Given the description of an element on the screen output the (x, y) to click on. 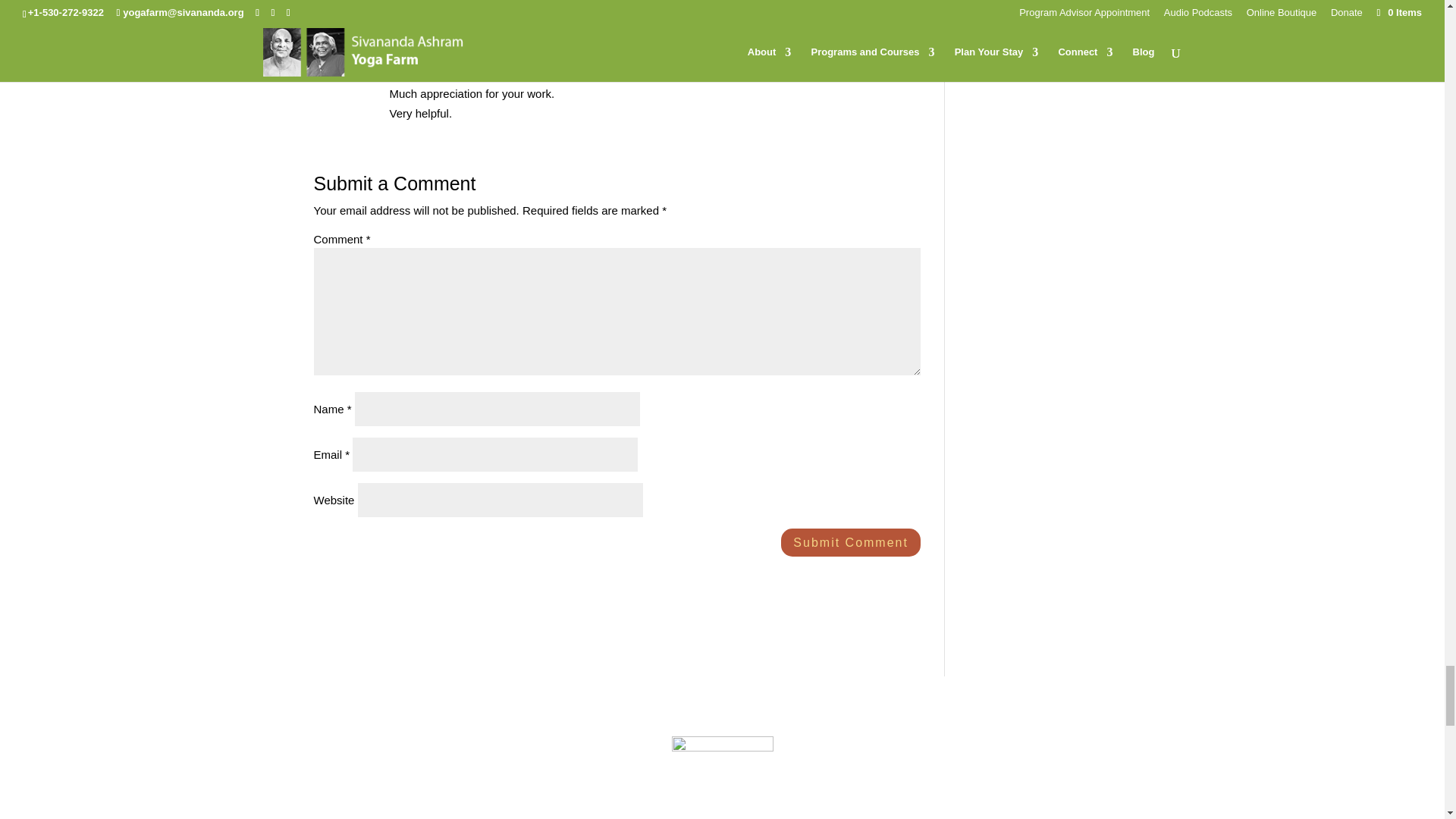
Submit Comment (850, 542)
